Given the description of an element on the screen output the (x, y) to click on. 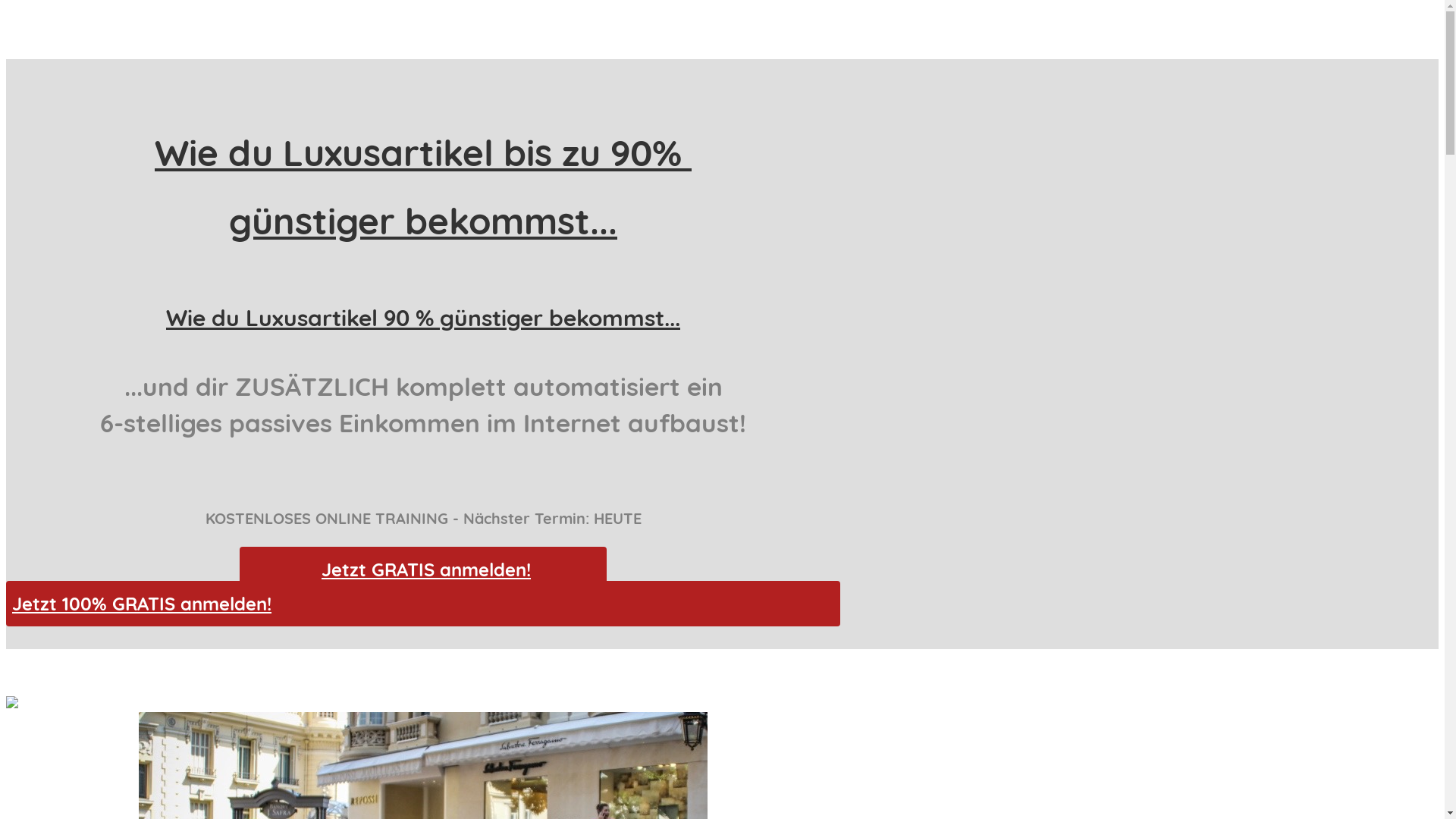
Jetzt 100% GRATIS anmelden! Element type: text (423, 603)
Jetzt GRATIS anmelden! Element type: text (422, 569)
